Given the description of an element on the screen output the (x, y) to click on. 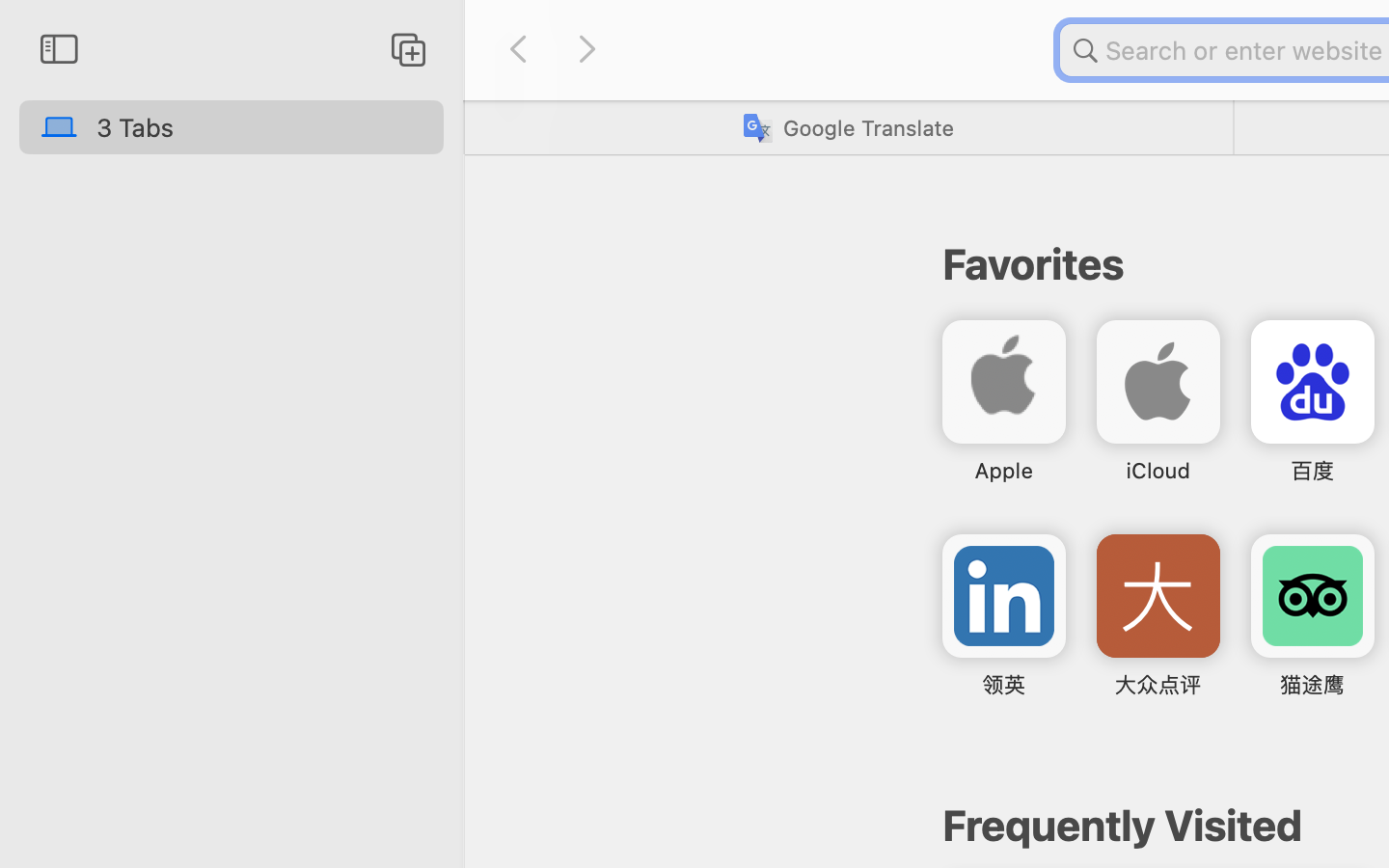
领英 Element type: AXButton (1002, 684)
Apple Element type: AXButton (1002, 470)
iCloud Element type: AXButton (1157, 470)
